Given the description of an element on the screen output the (x, y) to click on. 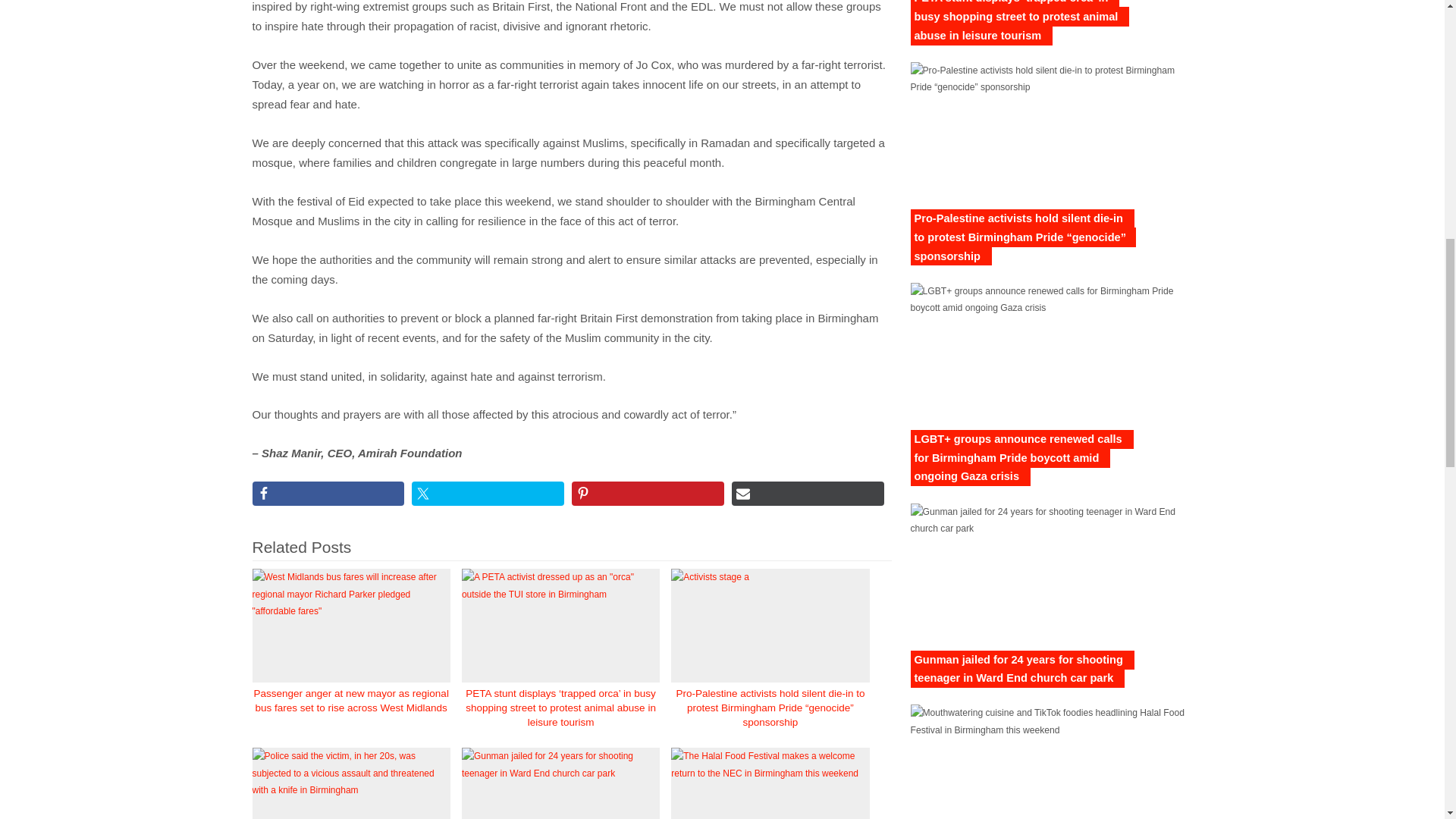
Share on Facebook (327, 493)
Share on Twitter (488, 493)
Share on Pinterest (647, 493)
Share via Email (807, 493)
